Given the description of an element on the screen output the (x, y) to click on. 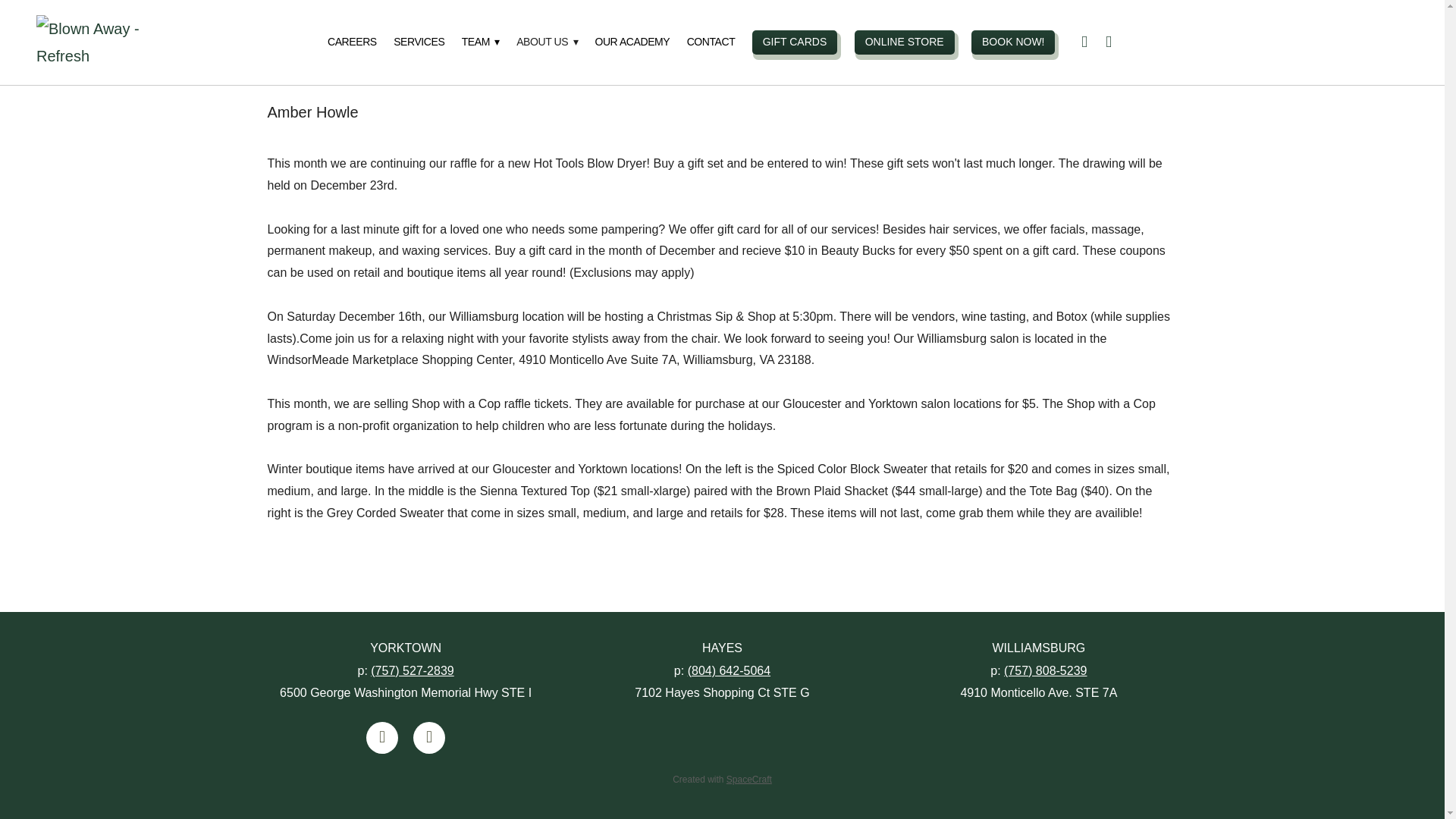
CONTACT (711, 42)
BOOK NOW! (1012, 42)
ONLINE STORE (904, 42)
Blown Away - Refresh (109, 42)
OUR ACADEMY (631, 42)
SERVICES (418, 42)
GIFT CARDS (795, 42)
CAREERS (352, 42)
Created with SpaceCraft (721, 778)
